Given the description of an element on the screen output the (x, y) to click on. 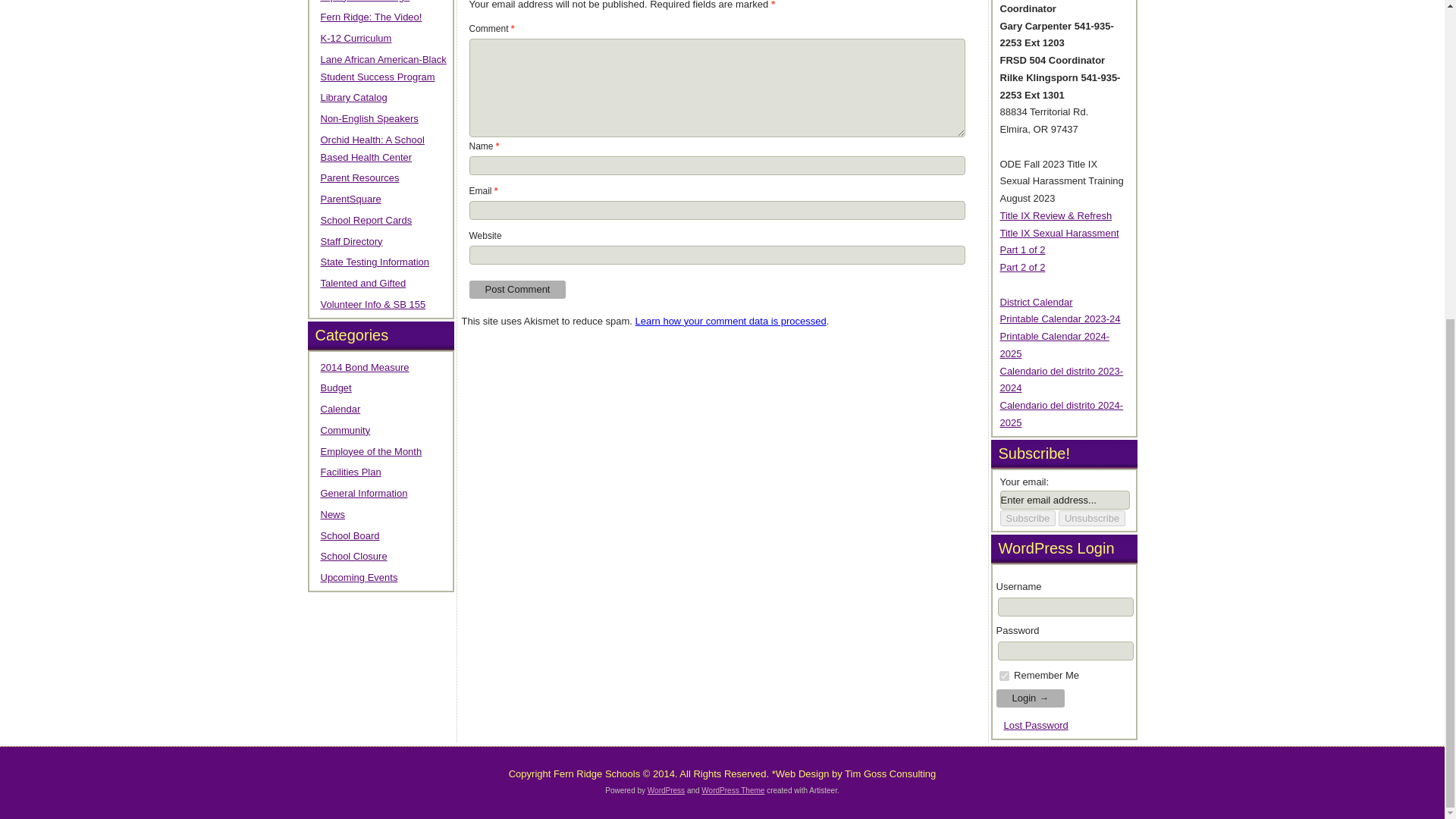
Unsubscribe (1091, 518)
Enter email address... (1063, 499)
Subscribe (1026, 518)
Post Comment (517, 289)
forever (1003, 675)
